Given the description of an element on the screen output the (x, y) to click on. 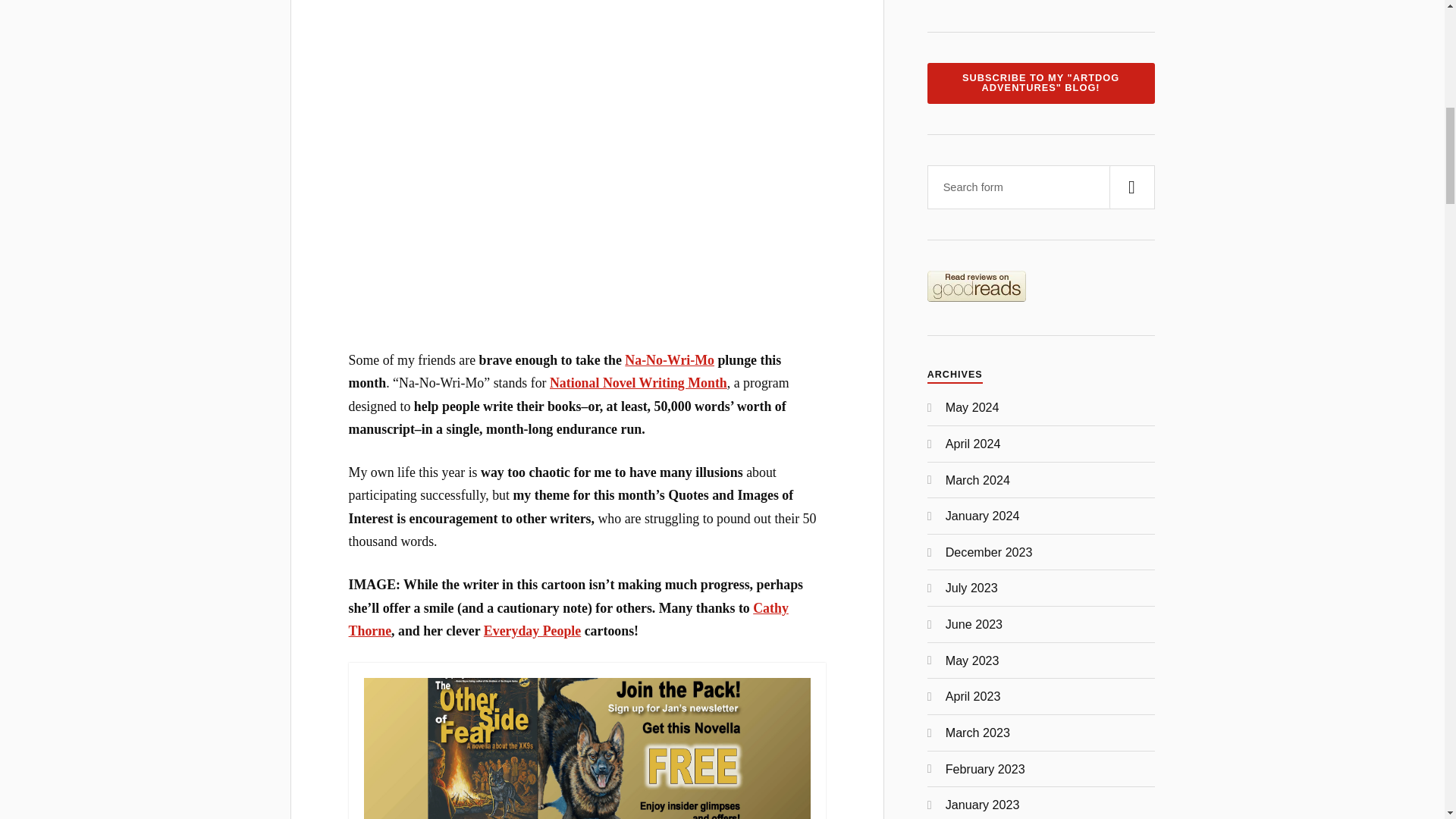
Cathy Thorne (569, 619)
Na-No-Wri-Mo (669, 359)
National Novel Writing Month (638, 382)
Everyday People (531, 630)
